Given the description of an element on the screen output the (x, y) to click on. 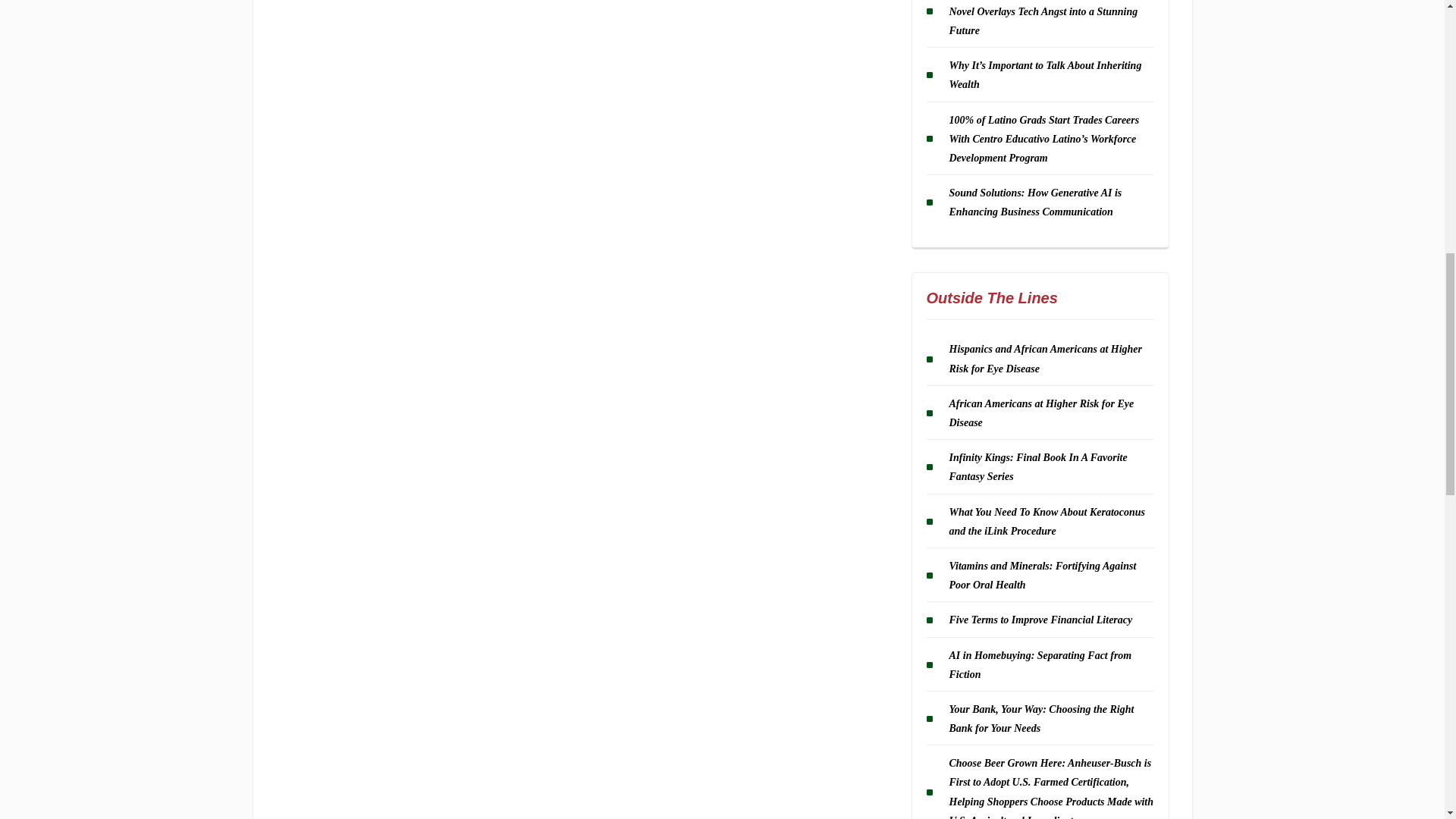
Infinity Kings: Final Book In A Favorite Fantasy Series (1037, 467)
African Americans at Higher Risk for Eye Disease (1041, 413)
African Americans at Higher Risk for Eye Disease (1041, 413)
Infinity Kings: Final Book In A Favorite Fantasy Series (1037, 467)
